Given the description of an element on the screen output the (x, y) to click on. 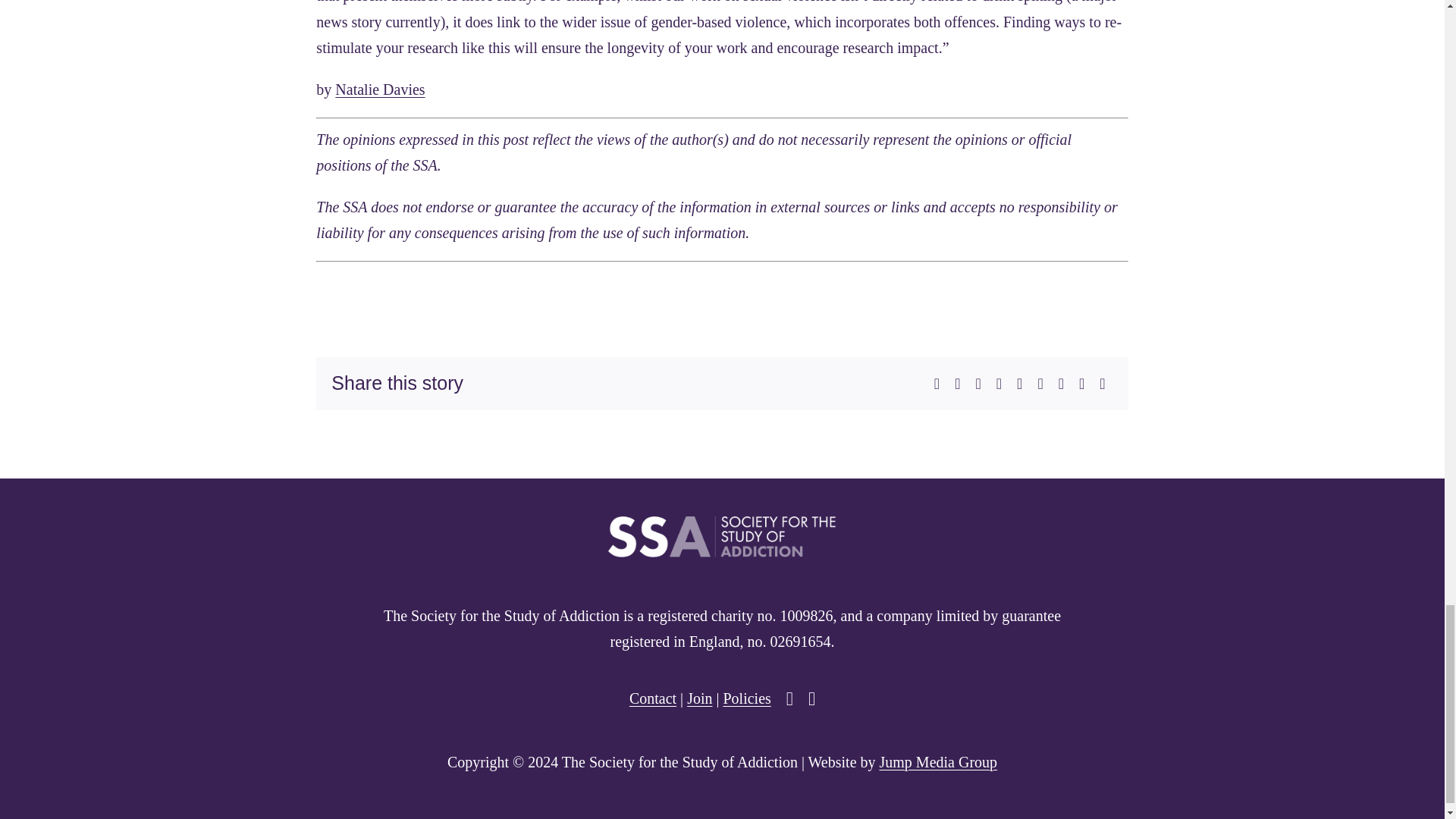
Policies (746, 698)
Jump Media Group (938, 761)
Join (699, 698)
Contact (652, 698)
Natalie Davies (379, 89)
